Given the description of an element on the screen output the (x, y) to click on. 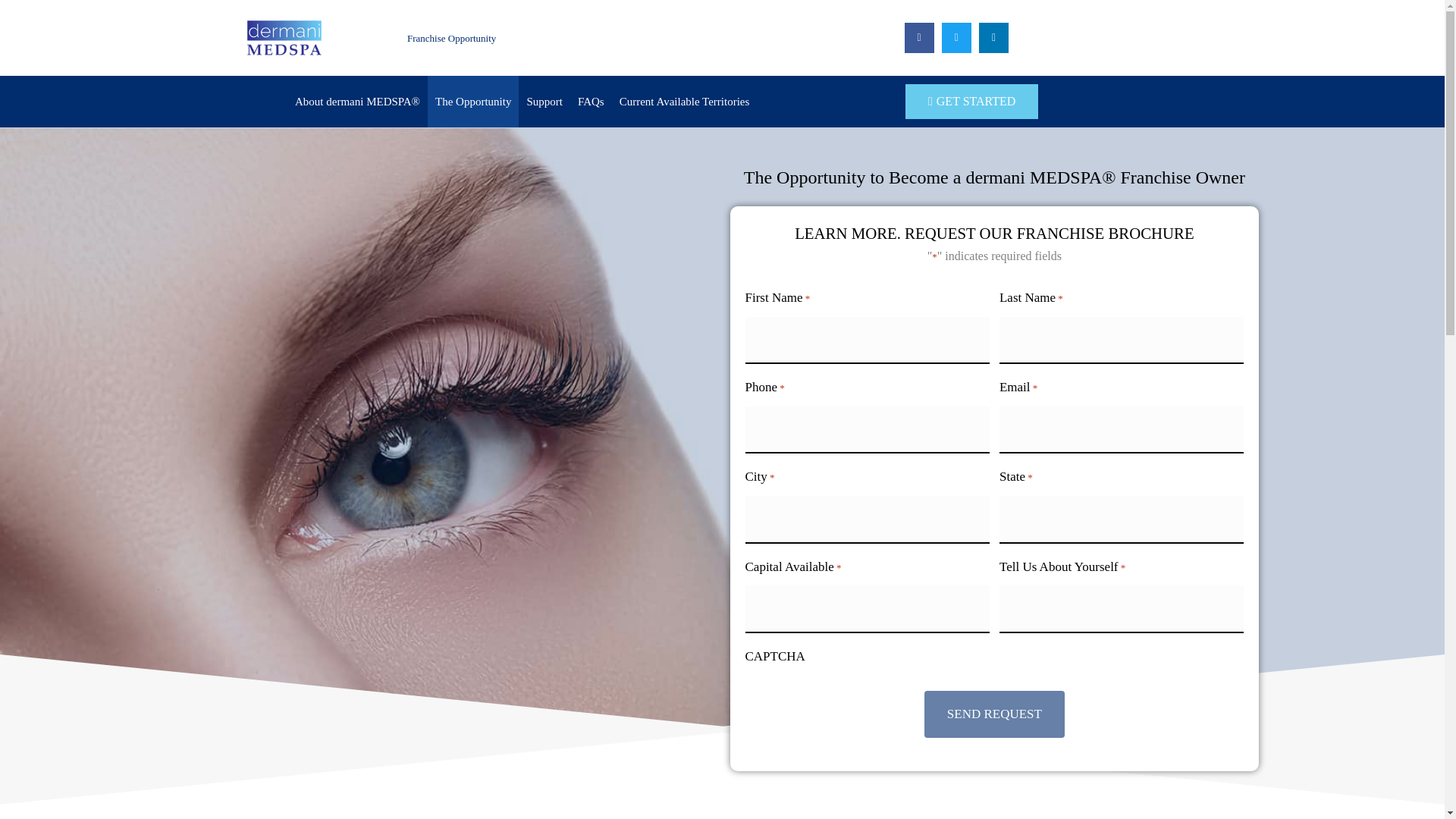
Current Available Territories (684, 101)
Support (544, 101)
Twitter (956, 37)
Send Request (994, 714)
GET STARTED (971, 101)
Linkedin (993, 37)
Send Request (994, 714)
Facebook (919, 37)
The Opportunity (473, 101)
